Given the description of an element on the screen output the (x, y) to click on. 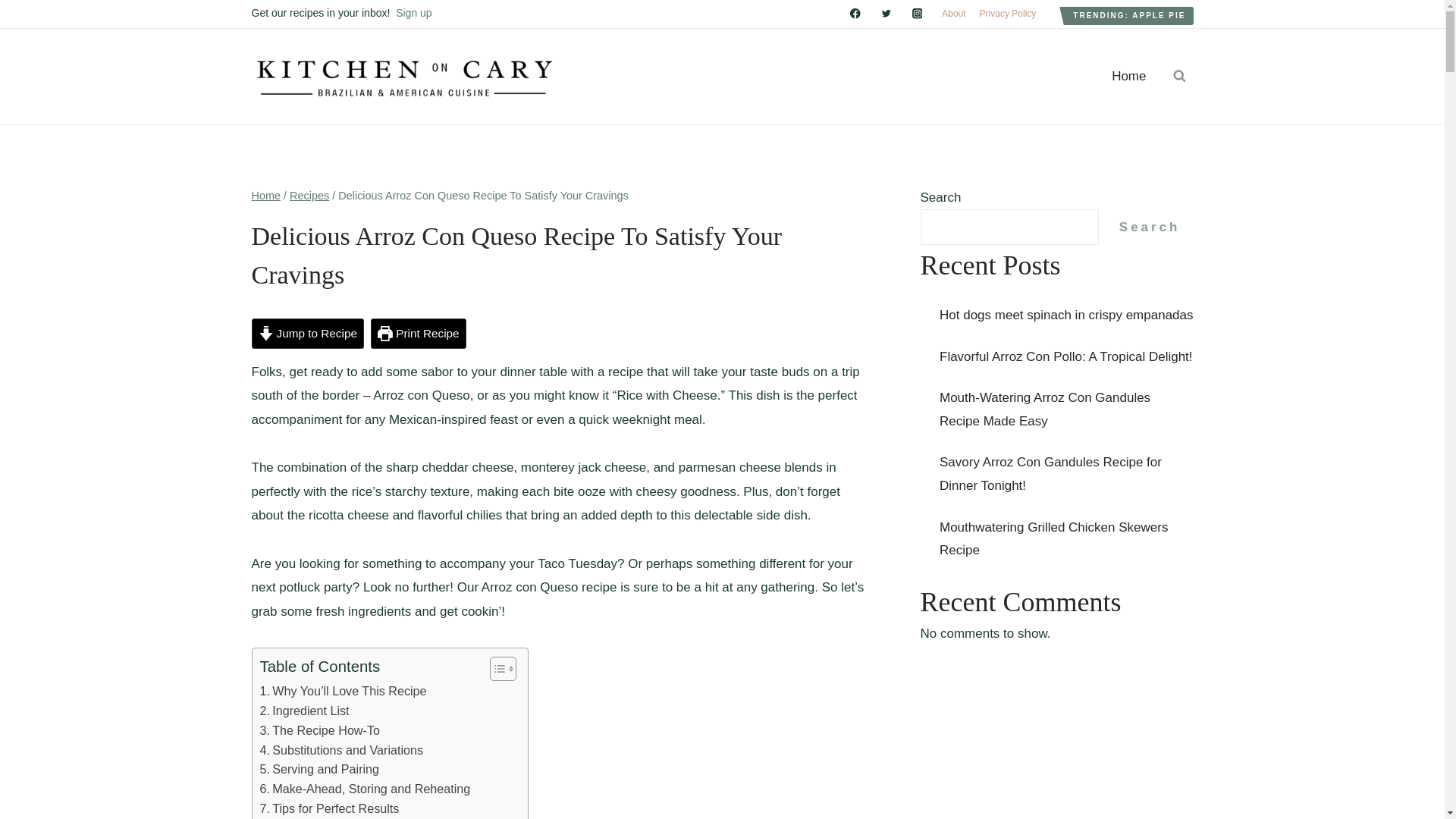
Tips for Perfect Results (328, 809)
Ingredient List (304, 711)
Recipes (309, 195)
Jump to Recipe (307, 333)
The Recipe How-To (318, 731)
About (953, 13)
Home (1128, 76)
The Recipe How-To (318, 731)
Make-Ahead, Storing and Reheating (364, 789)
Sign up (413, 12)
Tips for Perfect Results (328, 809)
Substitutions and Variations (341, 750)
Make-Ahead, Storing and Reheating (364, 789)
Serving and Pairing (318, 769)
TRENDING: APPLE PIE (1128, 15)
